Given the description of an element on the screen output the (x, y) to click on. 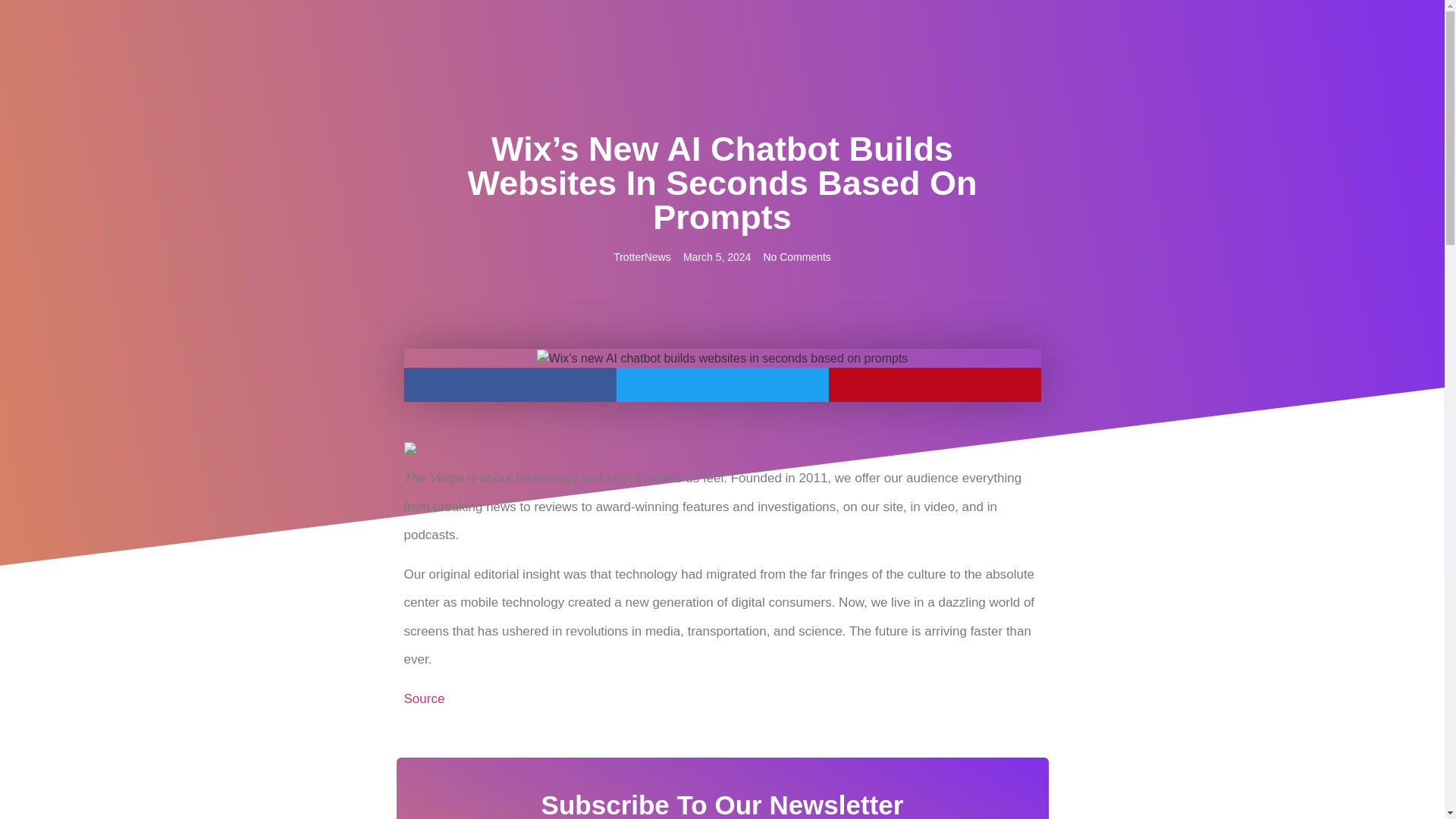
March 5, 2024 (716, 257)
No Comments (795, 257)
TrotterNews (641, 257)
Source (423, 698)
